Given the description of an element on the screen output the (x, y) to click on. 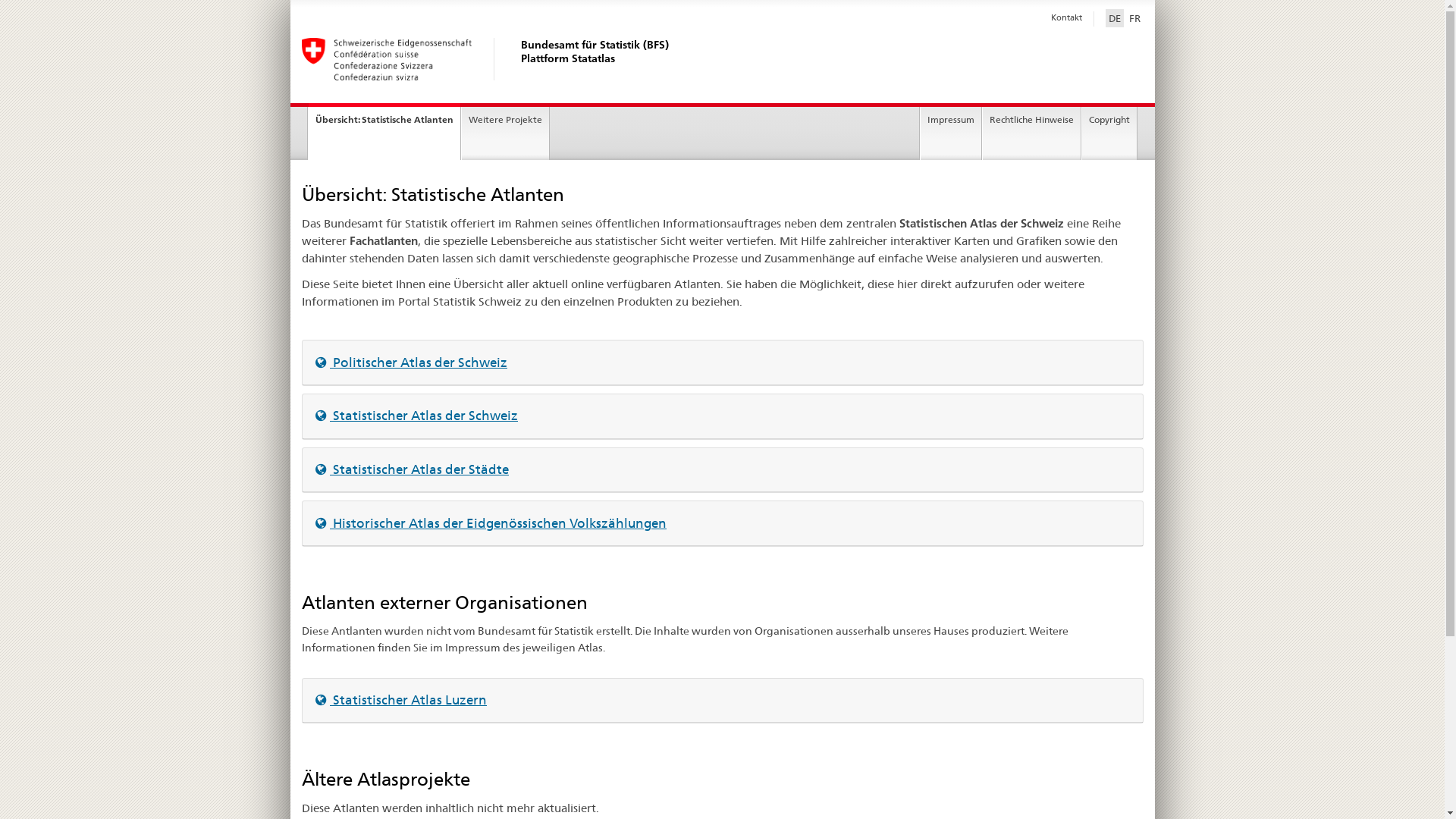
Kontakt Element type: text (1066, 17)
Politischer Atlas der Schweiz Element type: text (411, 362)
DE Element type: text (1114, 18)
Statistischer Atlas Luzern Element type: text (400, 699)
FR Element type: text (1133, 18)
Statistischer Atlas der Schweiz Element type: text (416, 415)
Weitere Projekte Element type: text (505, 133)
Copyright Element type: text (1109, 133)
Rechtliche Hinweise Element type: text (1031, 133)
Impressum Element type: text (950, 133)
